Given the description of an element on the screen output the (x, y) to click on. 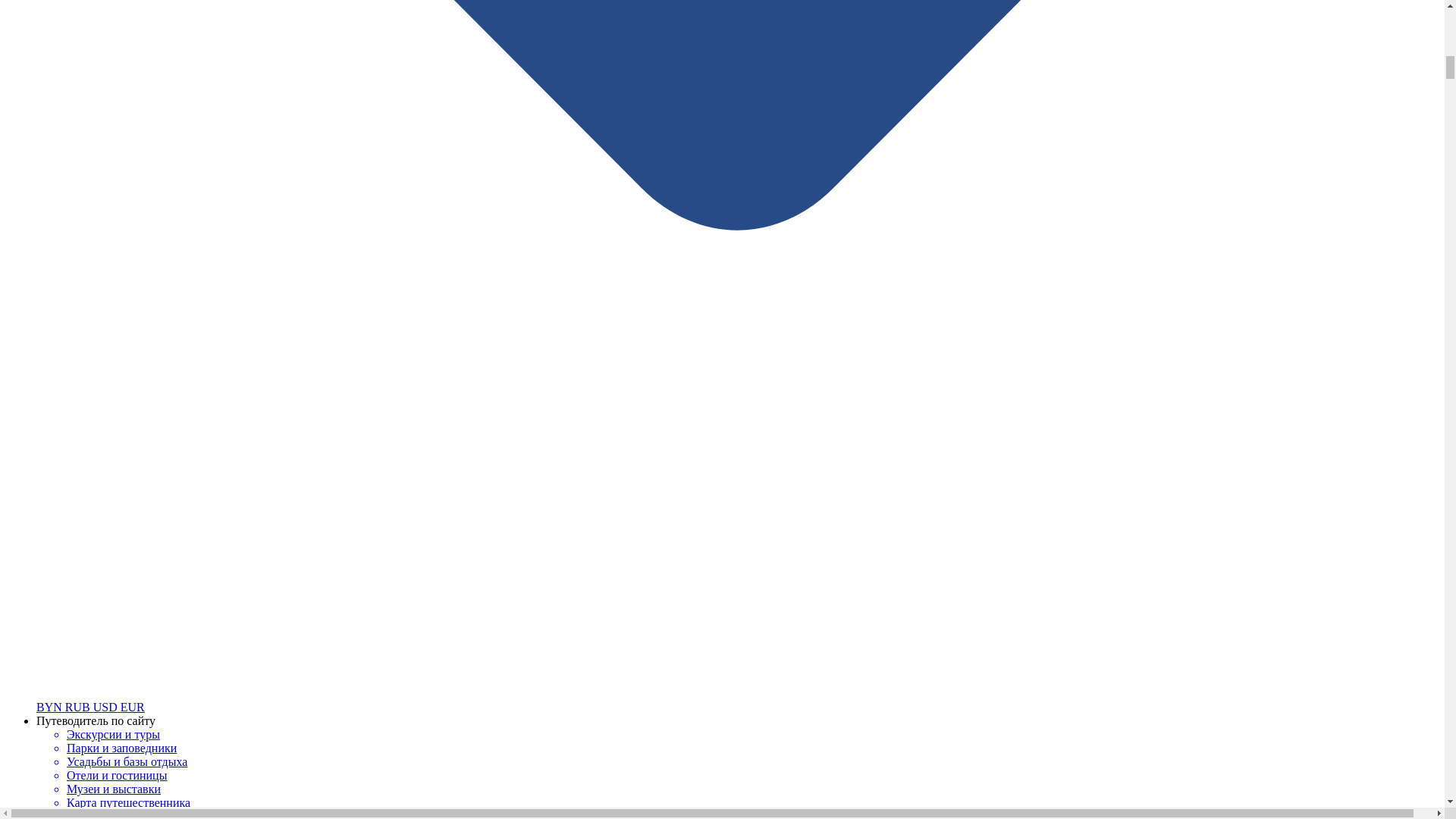
RUB (79, 707)
EUR (132, 707)
USD (106, 707)
BYN (50, 707)
